Given the description of an element on the screen output the (x, y) to click on. 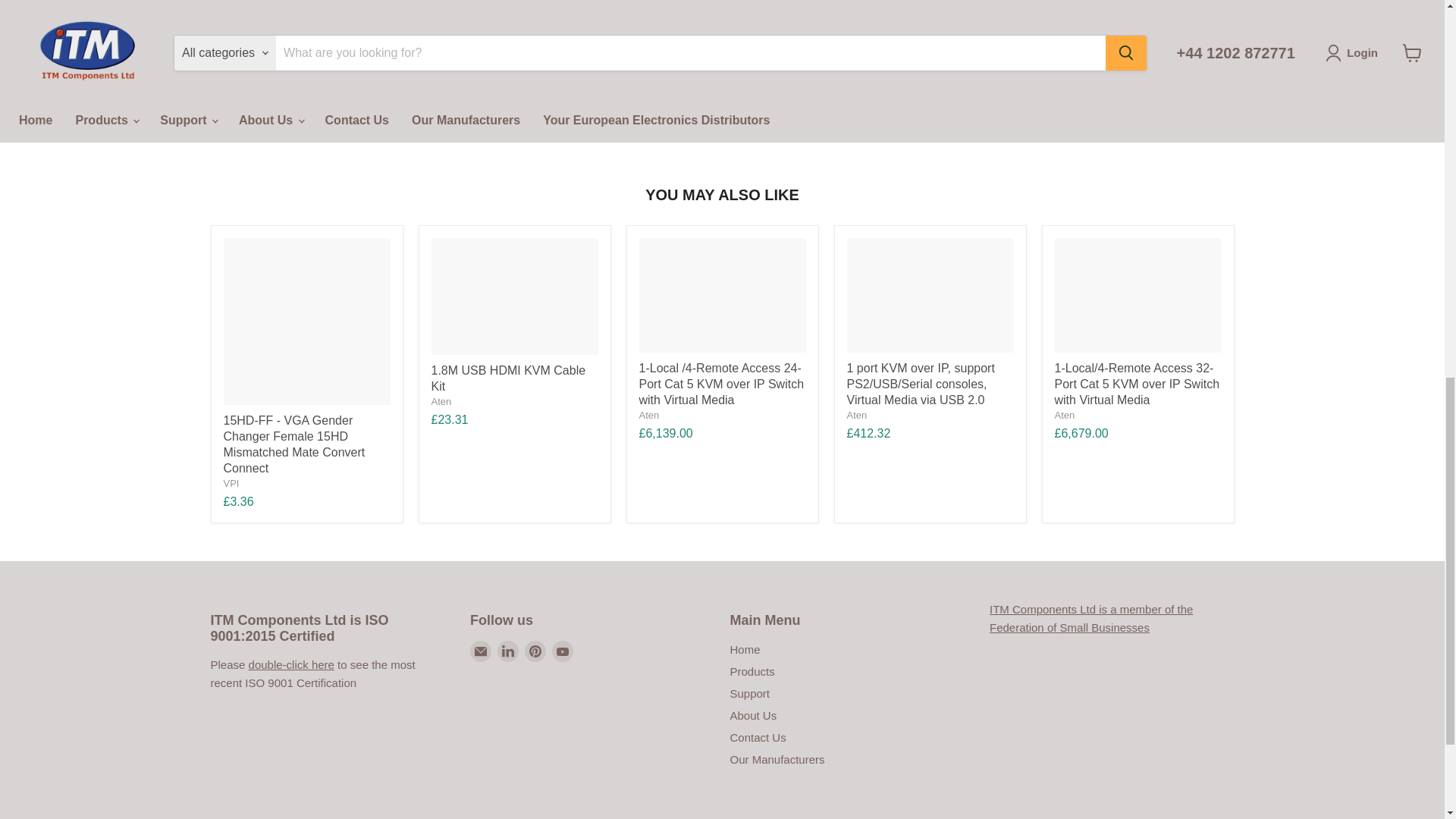
VPI (230, 482)
Aten (1064, 414)
ISO (291, 664)
Aten (440, 401)
Aten (649, 414)
Aten (855, 414)
1 (839, 28)
